Given the description of an element on the screen output the (x, y) to click on. 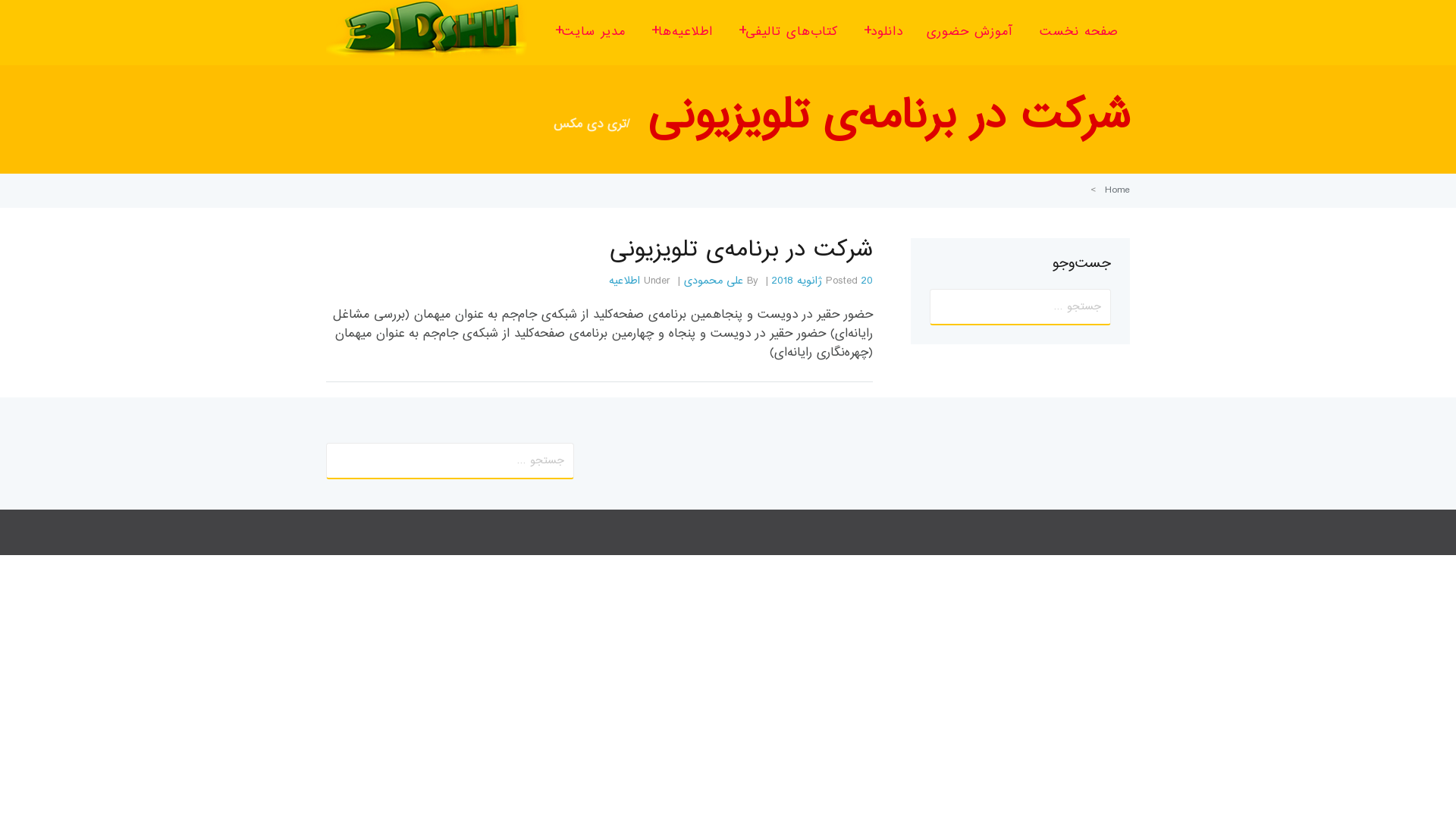
Home Element type: text (1116, 190)
